Given the description of an element on the screen output the (x, y) to click on. 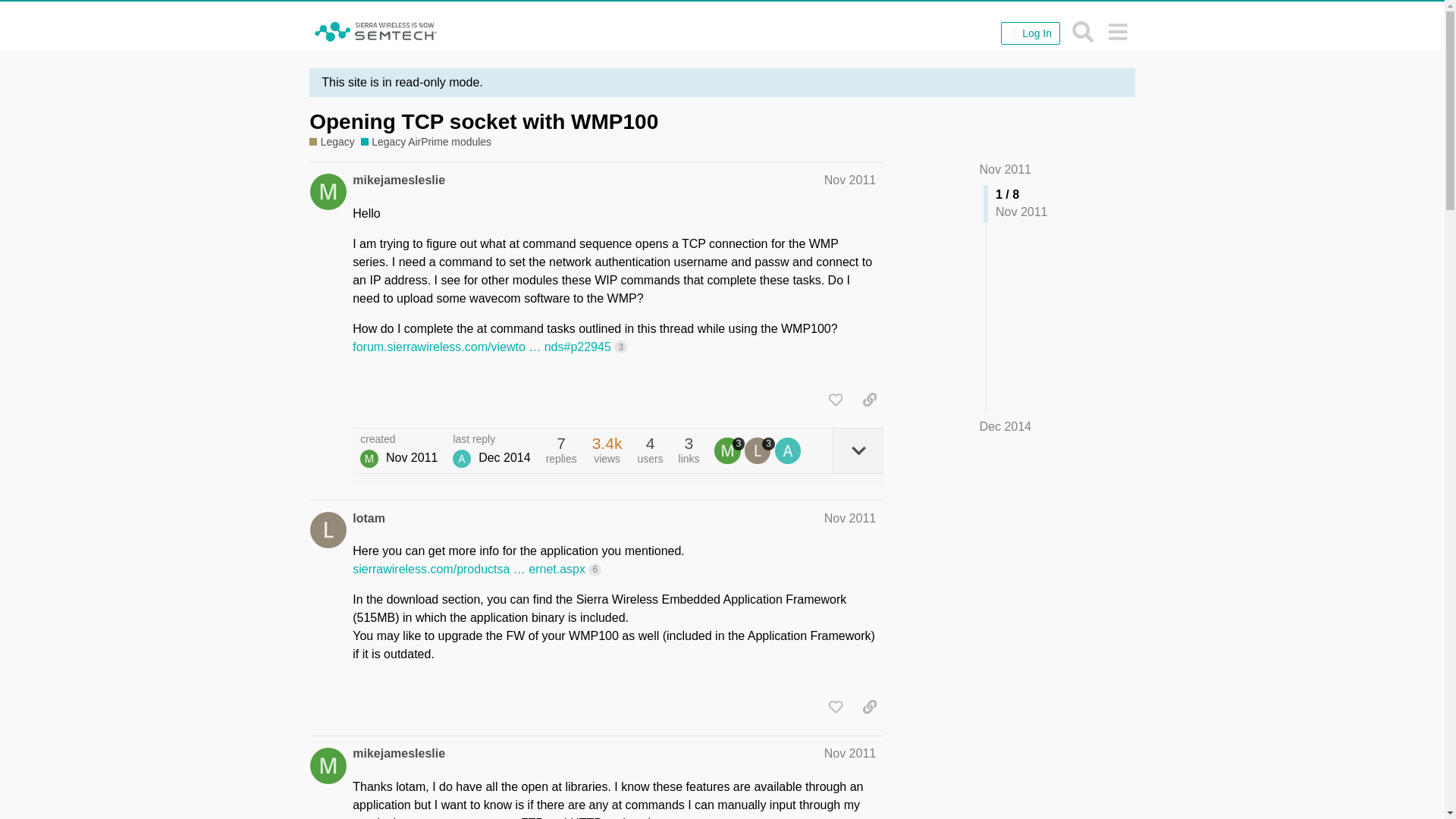
Search (1082, 31)
Nov 3, 2011 3:07 am (411, 457)
last reply (490, 439)
Opening TCP socket with WMP100 (483, 121)
copy a link to this post to clipboard (869, 399)
expand topic details (857, 450)
Legacy AirPrime modules (426, 142)
Dec 31, 2014 8:51 pm (505, 457)
Dec 2014 (1005, 426)
3 clicks (620, 346)
3 (759, 450)
3 (729, 450)
Nov 2011 (850, 179)
mikejamesleslie (398, 753)
awneil (461, 458)
